Given the description of an element on the screen output the (x, y) to click on. 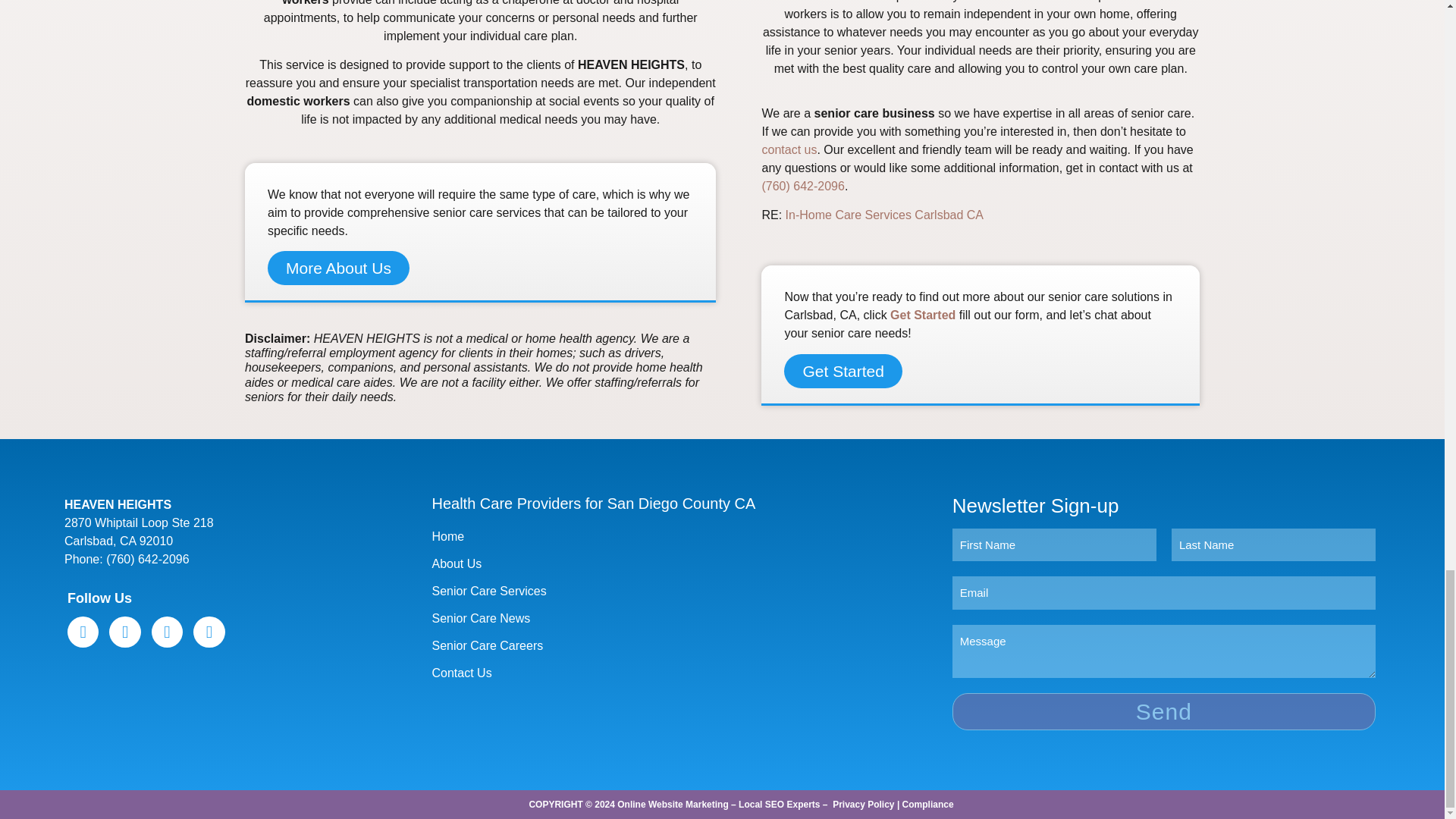
Compliance (927, 804)
Online Website Marketing - Local SEO Experts (718, 804)
More About Us (338, 267)
In Home care Services Carlsbad CA (885, 214)
Get Started (922, 314)
Get Started (842, 370)
In-Home Care Services Carlsbad CA (885, 214)
contact us (788, 149)
Privacy Policy (862, 804)
